Given the description of an element on the screen output the (x, y) to click on. 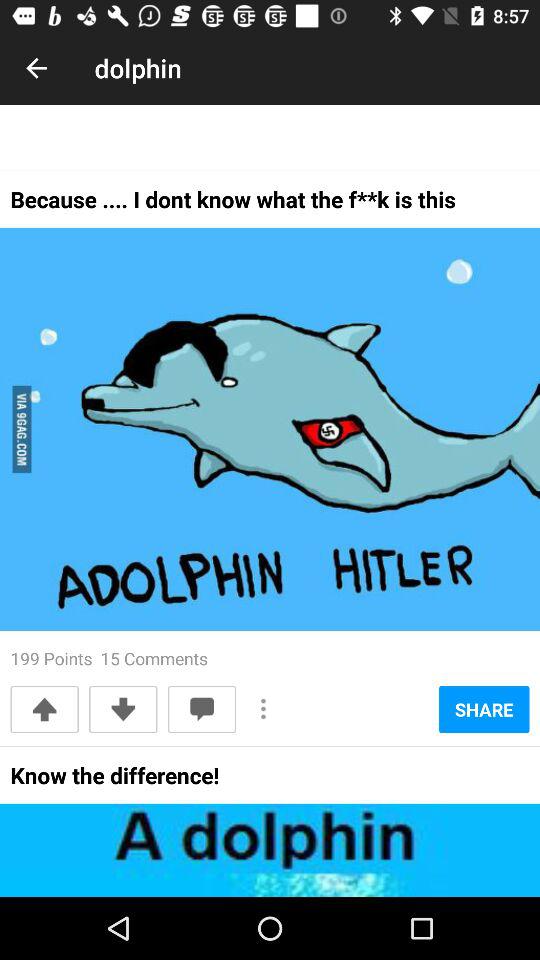
press the icon below the 199 points 	15 item (44, 709)
